Given the description of an element on the screen output the (x, y) to click on. 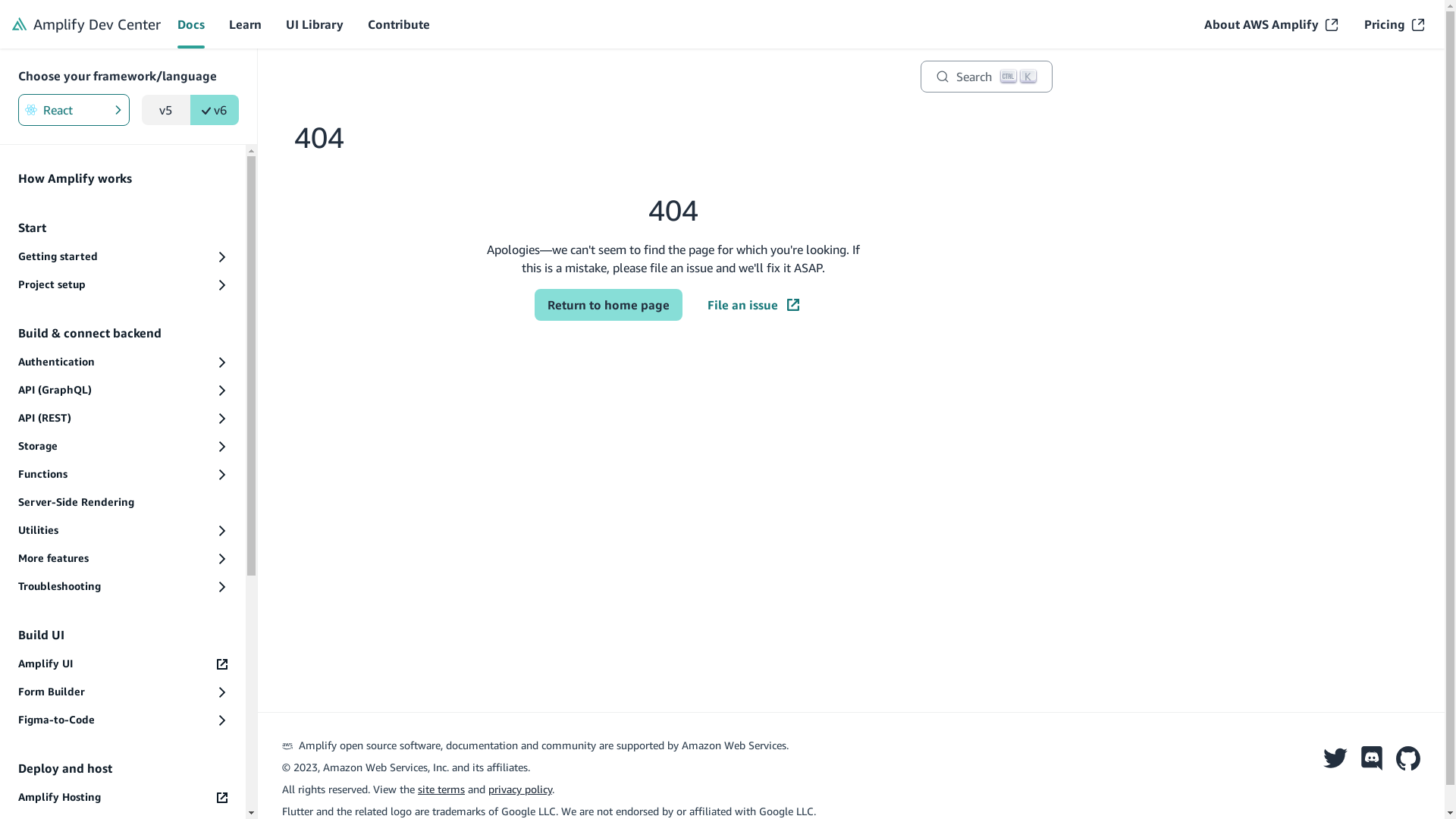
Functions Element type: text (122, 474)
Discord Element type: text (1371, 754)
Project setup Element type: text (122, 284)
How Amplify works Element type: text (122, 178)
Build UI Element type: text (122, 634)
Troubleshooting Element type: text (122, 586)
Twitter Element type: text (1335, 754)
Storage Element type: text (122, 446)
privacy policy Element type: text (520, 788)
Deploy and host Element type: text (122, 768)
Getting started Element type: text (122, 256)
Learn Element type: text (245, 24)
Skip to main content Element type: text (722, 14)
Authentication Element type: text (122, 362)
Docs Element type: text (190, 24)
Utilities Element type: text (122, 530)
More features Element type: text (122, 558)
v6 Element type: text (214, 109)
Server-Side Rendering Element type: text (122, 502)
v5 Element type: text (165, 109)
API (GraphQL) Element type: text (122, 390)
Start Element type: text (122, 227)
API (REST) Element type: text (122, 418)
Amplify Hosting Element type: text (122, 797)
Amplify UI Element type: text (122, 663)
File an issue Element type: text (753, 304)
Search
K Element type: text (986, 76)
site terms Element type: text (440, 788)
Github Element type: text (1408, 754)
Build & connect backend Element type: text (122, 332)
Form Builder Element type: text (122, 691)
Pricing Element type: text (1393, 24)
React Element type: text (73, 109)
About AWS Amplify Element type: text (1270, 24)
UI Library Element type: text (314, 24)
Return to home page Element type: text (608, 304)
Figma-to-Code Element type: text (122, 720)
Contribute Element type: text (398, 24)
